Given the description of an element on the screen output the (x, y) to click on. 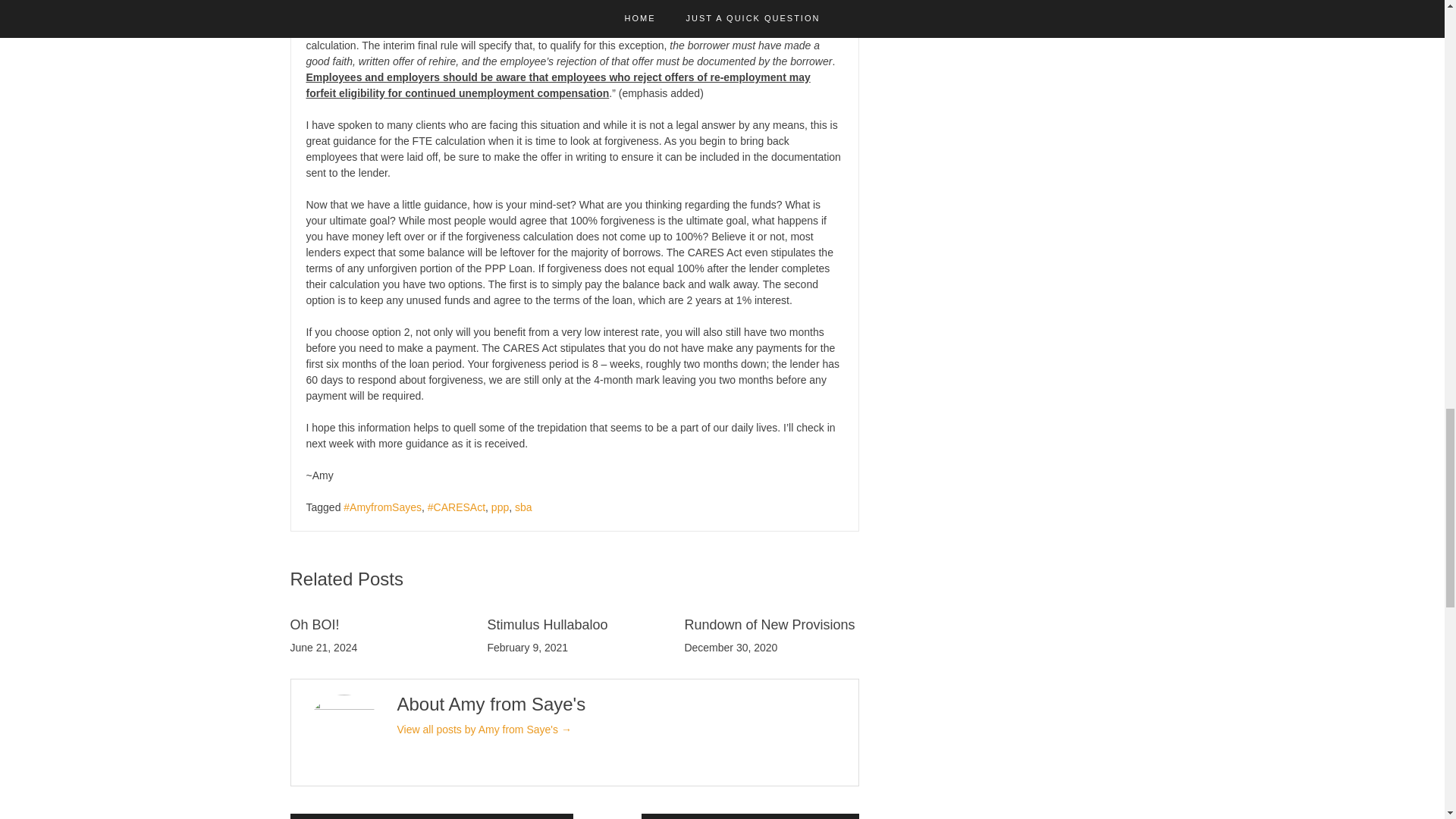
Oh BOI! (314, 624)
Planning; It Is About Taming Chaos (750, 816)
Stimulus Hullabaloo (546, 624)
ppp (500, 507)
Rundown of New Provisions (769, 624)
sba (523, 507)
Got Stimulus Questions? Here Are Some FAQs (430, 816)
